Given the description of an element on the screen output the (x, y) to click on. 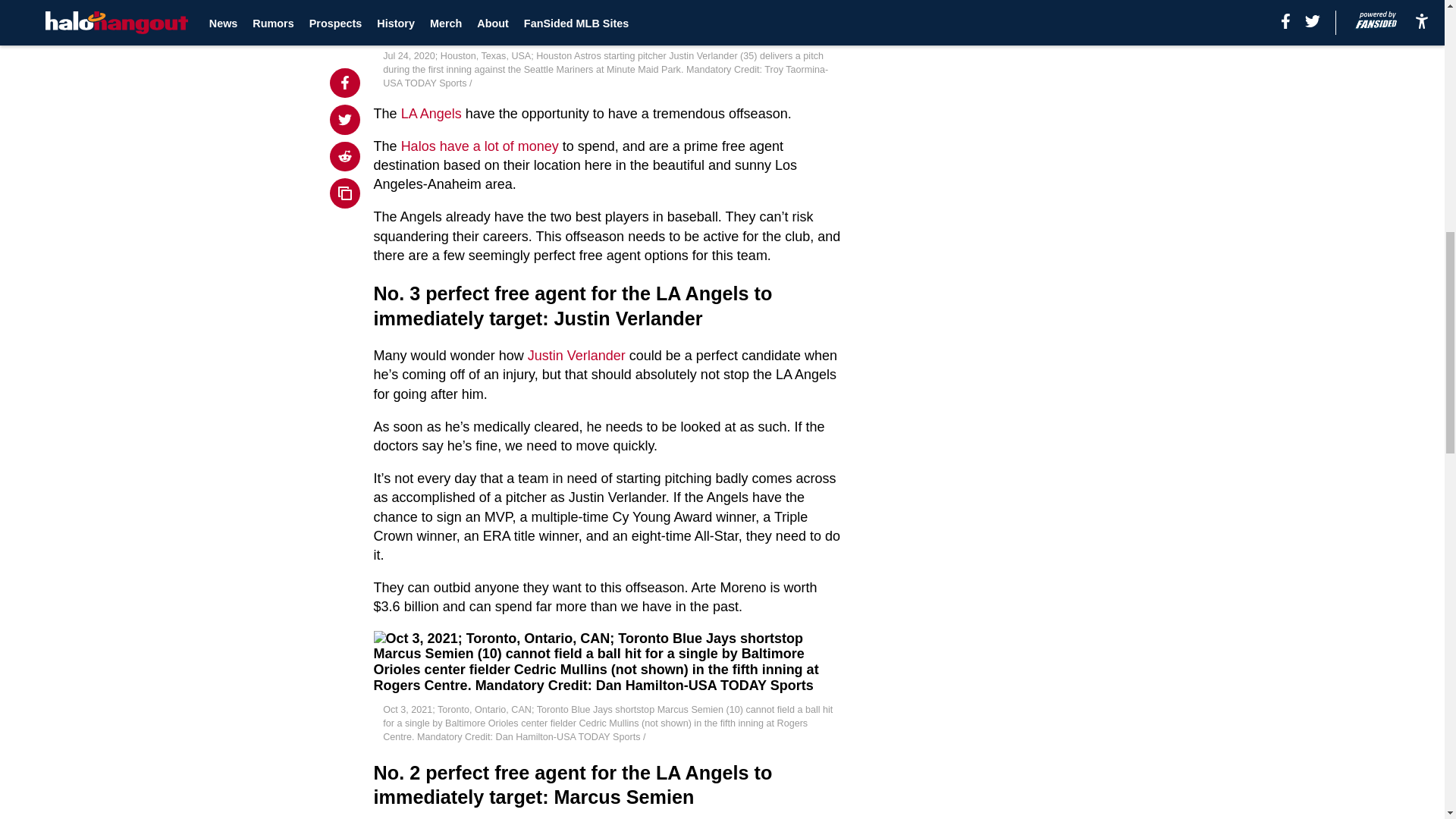
Justin Verlander (576, 355)
LA Angels (431, 113)
Halos have a lot of money (480, 145)
